Given the description of an element on the screen output the (x, y) to click on. 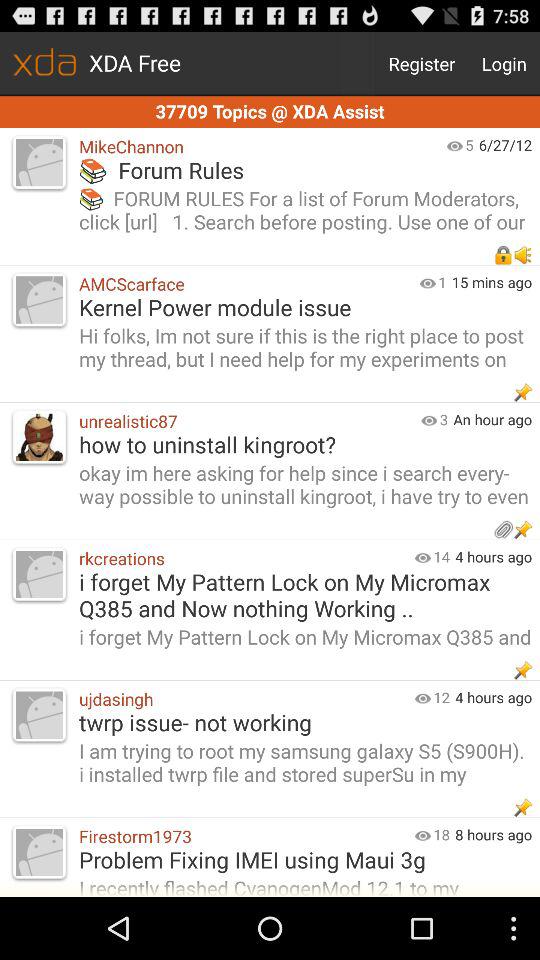
flip until firestorm1973 (242, 835)
